Given the description of an element on the screen output the (x, y) to click on. 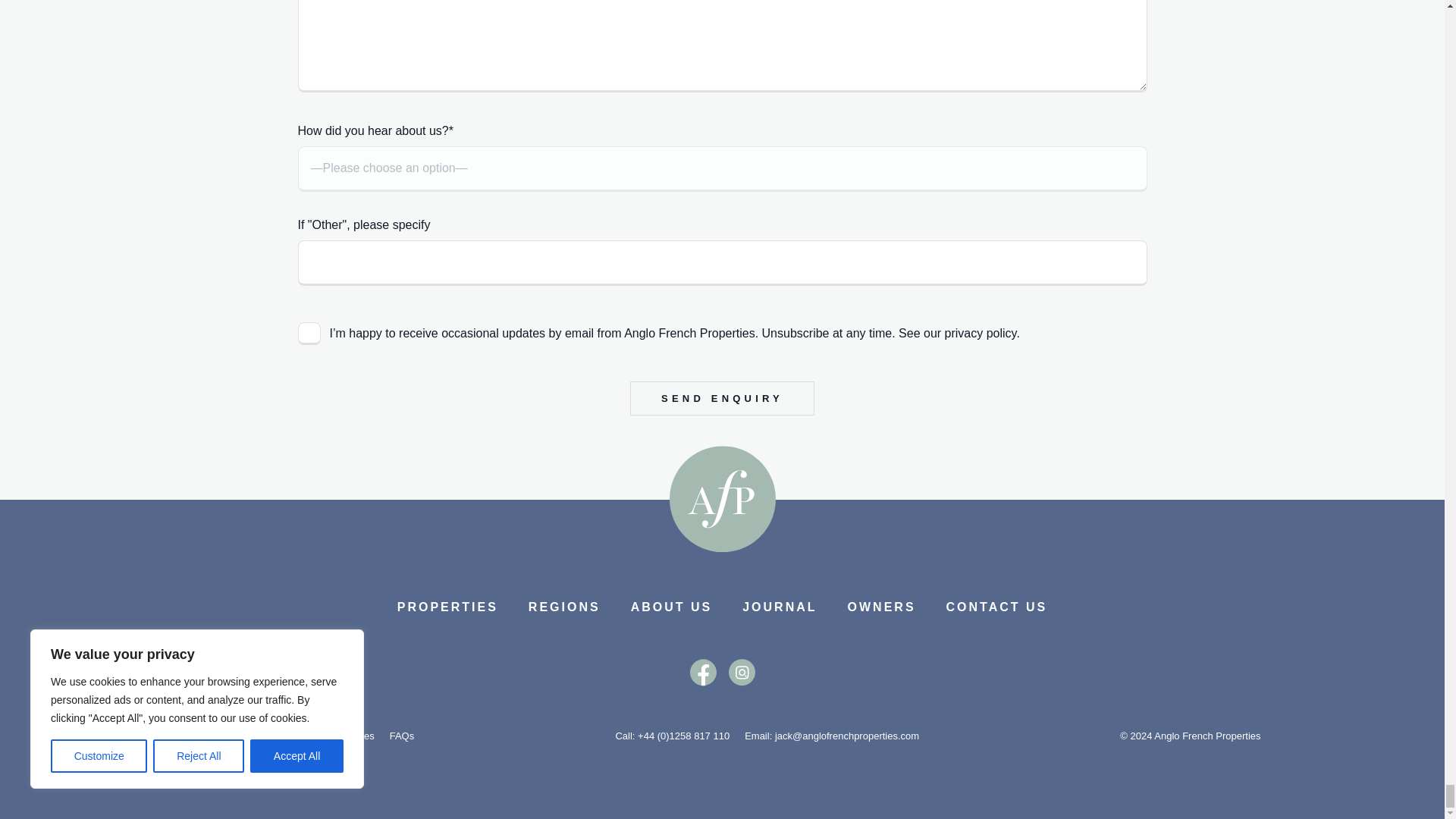
Send Enquiry (721, 398)
